Given the description of an element on the screen output the (x, y) to click on. 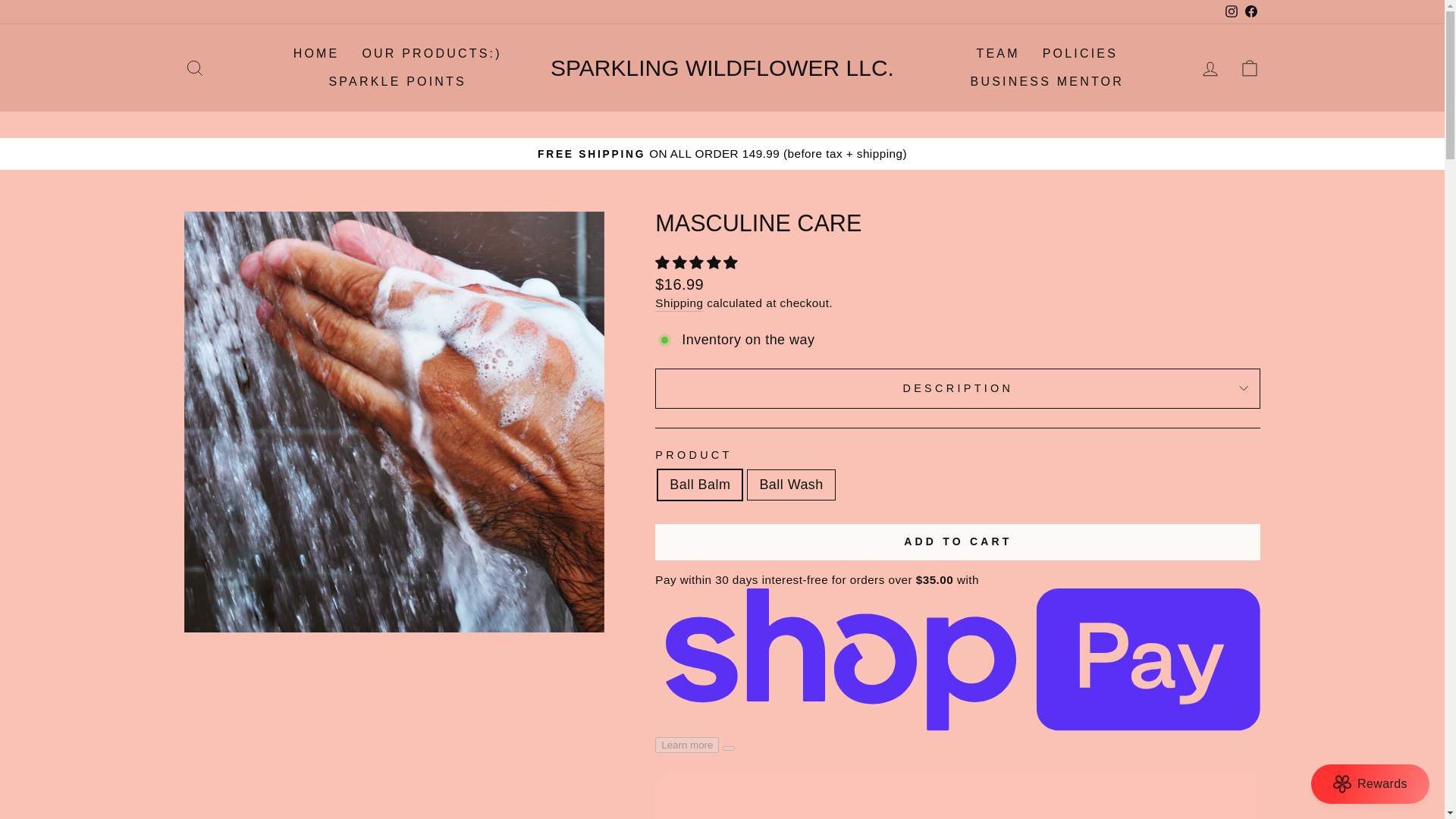
ICON-SEARCH (194, 67)
TEAM (1210, 67)
HOME (996, 53)
ACCOUNT (316, 53)
ADD TO CART (1210, 68)
instagram (957, 542)
SPARKLE POINTS (1231, 10)
SPARKLING WILDFLOWER LLC. (397, 81)
ICON-BAG-MINIMAL (721, 67)
